Given the description of an element on the screen output the (x, y) to click on. 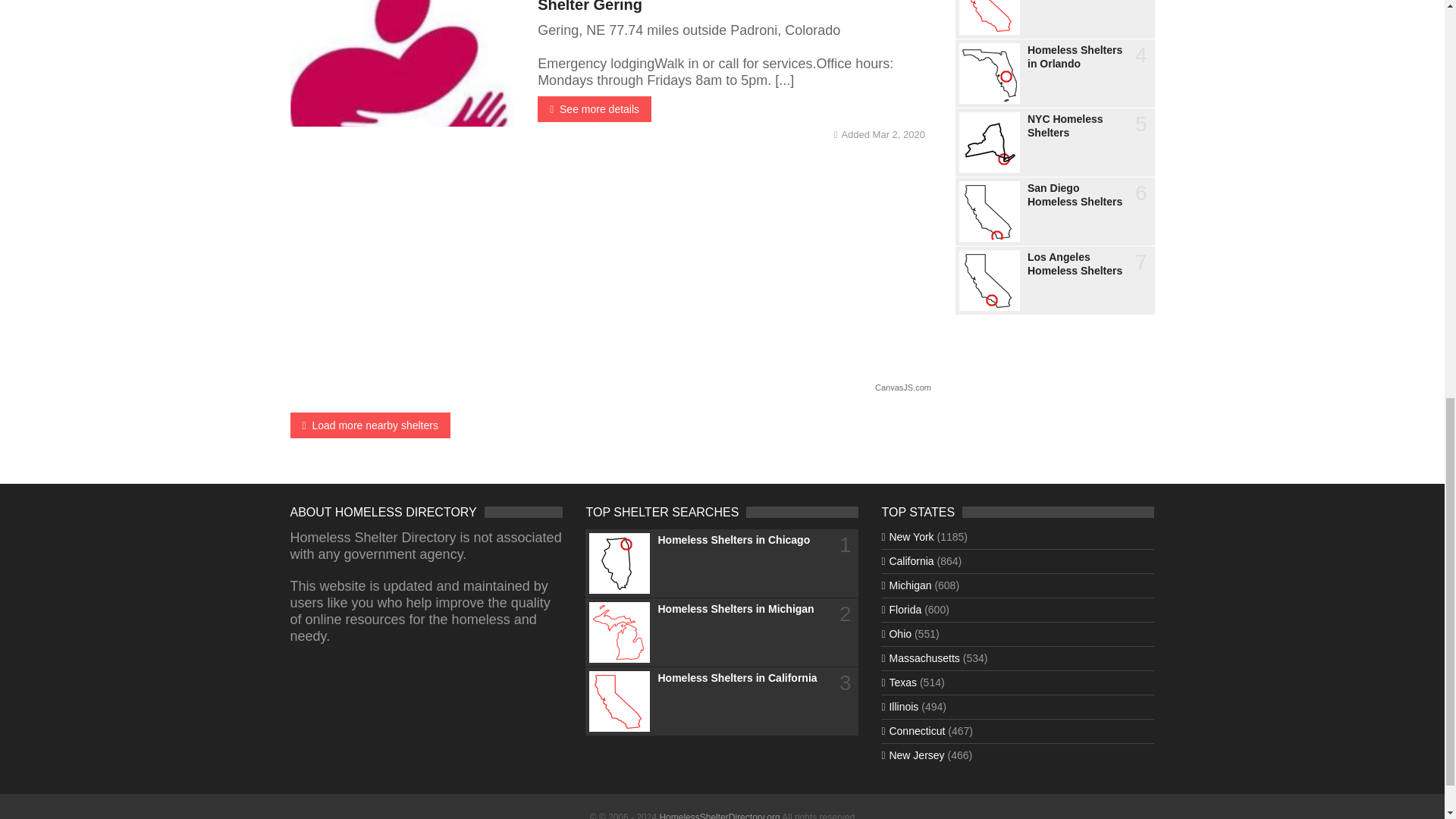
CanvasJS.com (903, 387)
  See more details (593, 109)
  Load more nearby shelters (369, 425)
JavaScript Charts (903, 387)
